Given the description of an element on the screen output the (x, y) to click on. 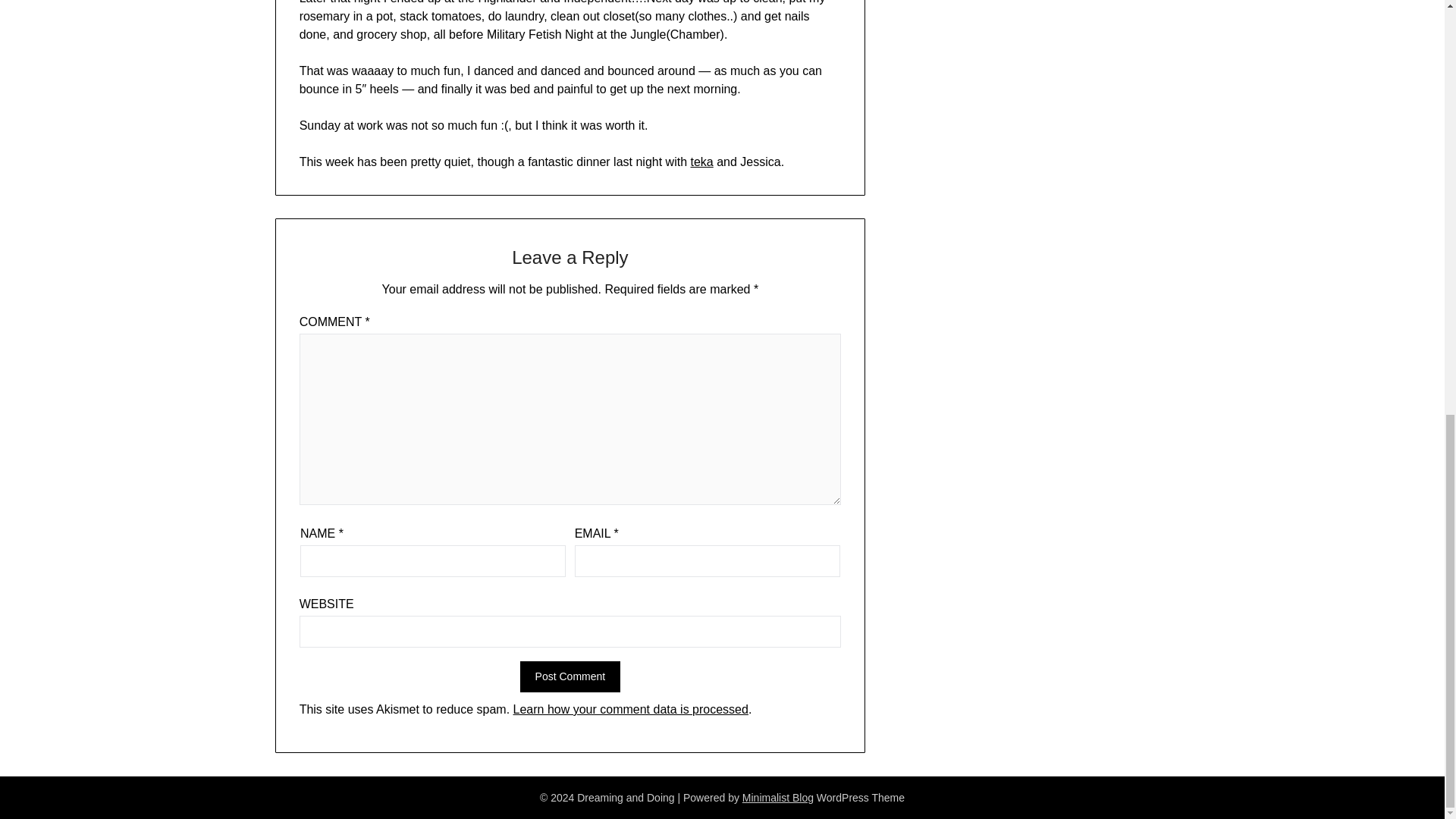
Learn how your comment data is processed (630, 708)
Post Comment (570, 676)
Post Comment (570, 676)
Minimalist Blog (777, 797)
teka (701, 161)
